Given the description of an element on the screen output the (x, y) to click on. 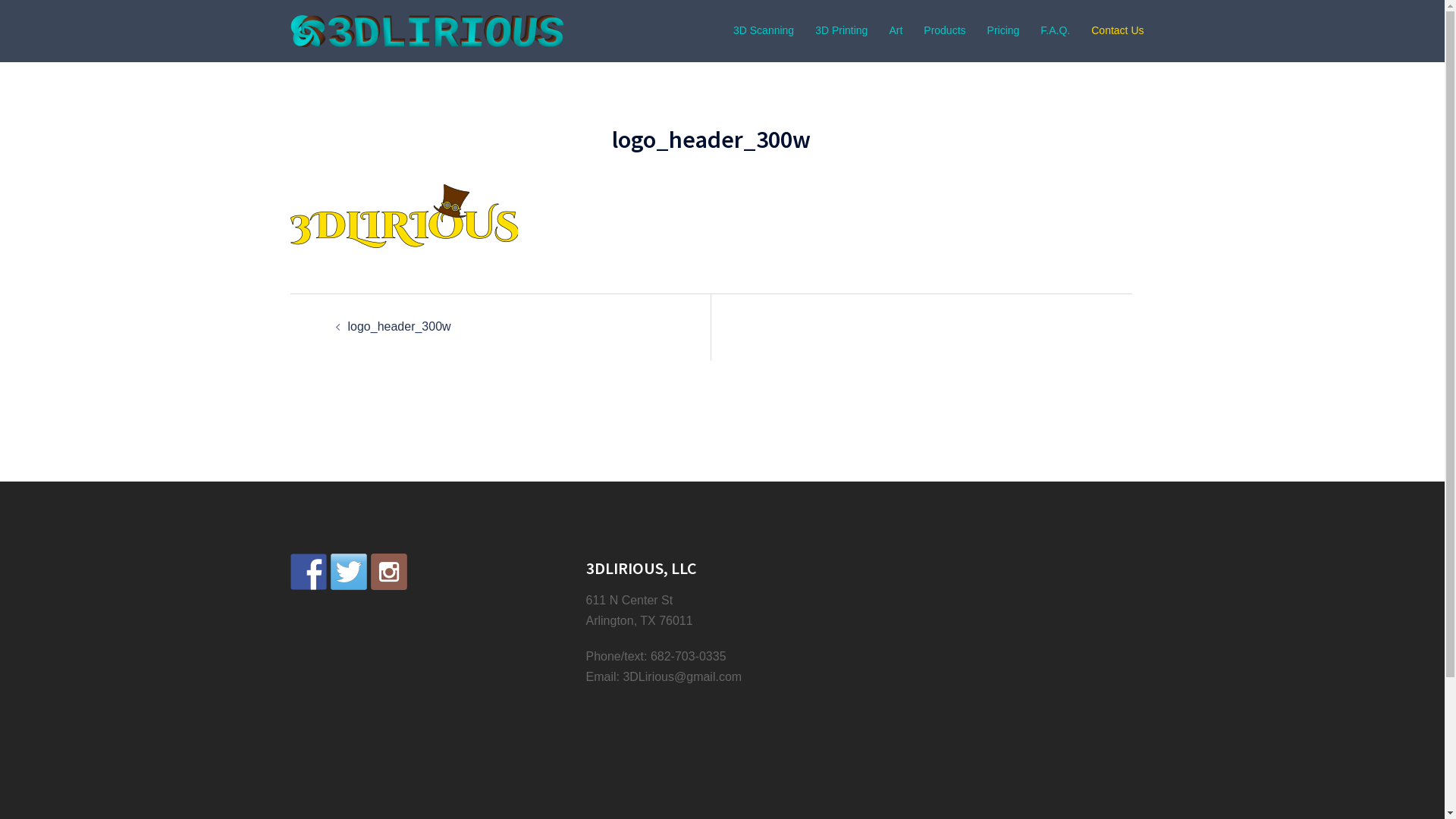
Check out our instagram feed Element type: hover (388, 571)
Pricing Element type: text (1003, 30)
3D Scanning Element type: text (763, 30)
F.A.Q. Element type: text (1055, 30)
Art Element type: text (895, 30)
Follow us on Facebook Element type: hover (307, 571)
logo_header_300w Element type: text (398, 326)
Products Element type: text (944, 30)
Follow us on Twitter Element type: hover (348, 571)
3DLIRIOUS Element type: hover (425, 29)
3D Printing Element type: text (841, 30)
Contact Us Element type: text (1117, 30)
